Given the description of an element on the screen output the (x, y) to click on. 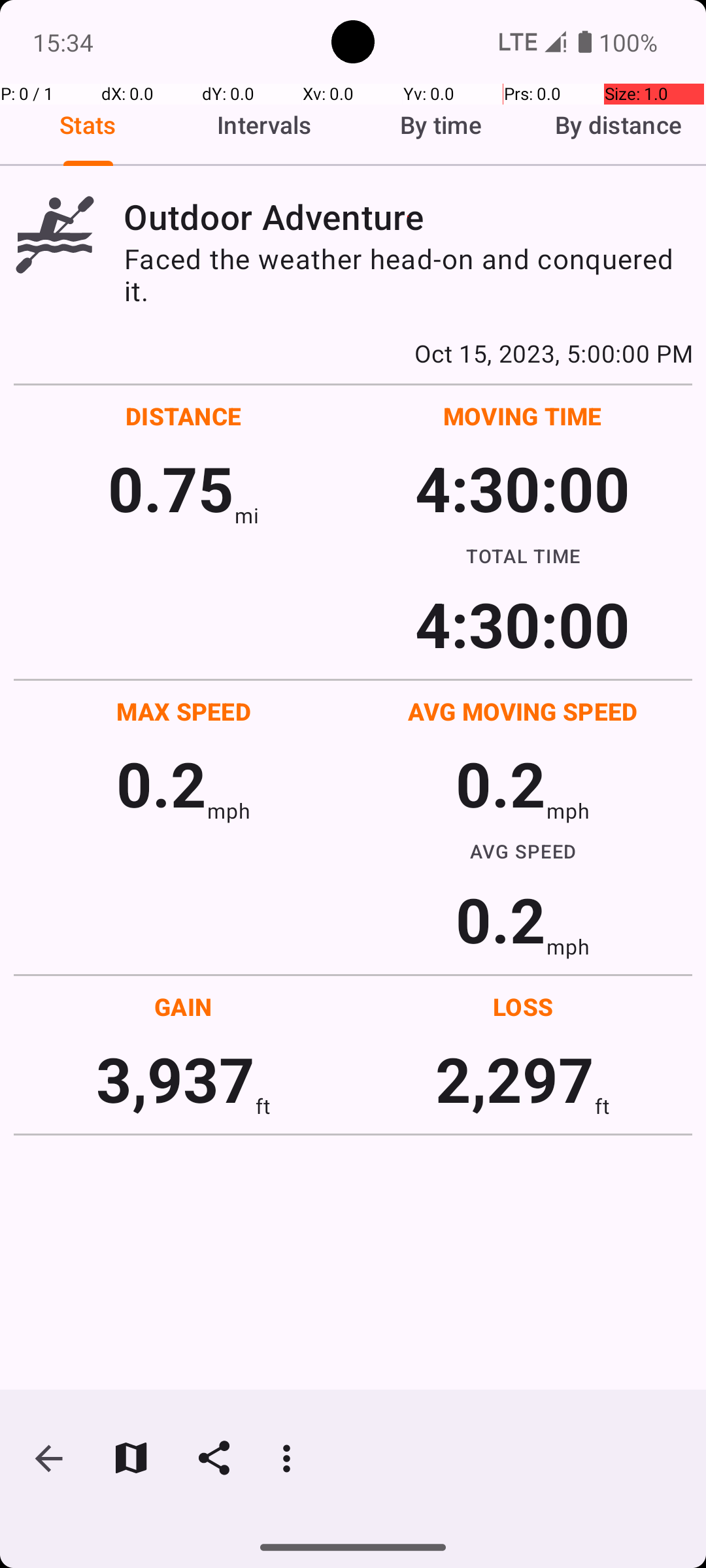
Outdoor Adventure Element type: android.widget.TextView (407, 216)
Faced the weather head-on and conquered it. Element type: android.widget.TextView (407, 274)
Oct 15, 2023, 5:00:00 PM Element type: android.widget.TextView (352, 352)
0.75 Element type: android.widget.TextView (170, 487)
4:30:00 Element type: android.widget.TextView (522, 487)
0.2 Element type: android.widget.TextView (161, 782)
3,937 Element type: android.widget.TextView (175, 1077)
2,297 Element type: android.widget.TextView (514, 1077)
